Given the description of an element on the screen output the (x, y) to click on. 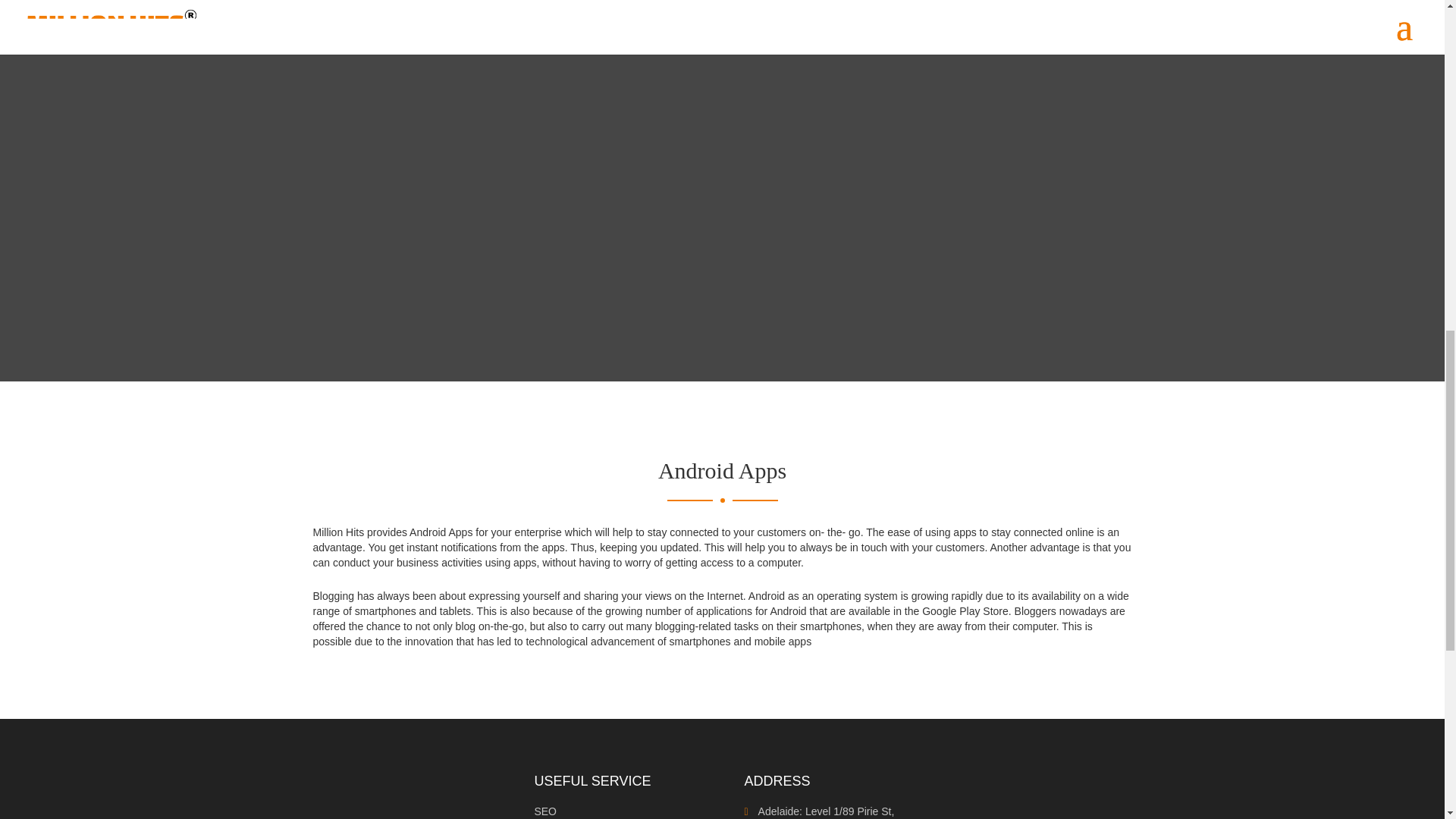
SEO (545, 811)
